Given the description of an element on the screen output the (x, y) to click on. 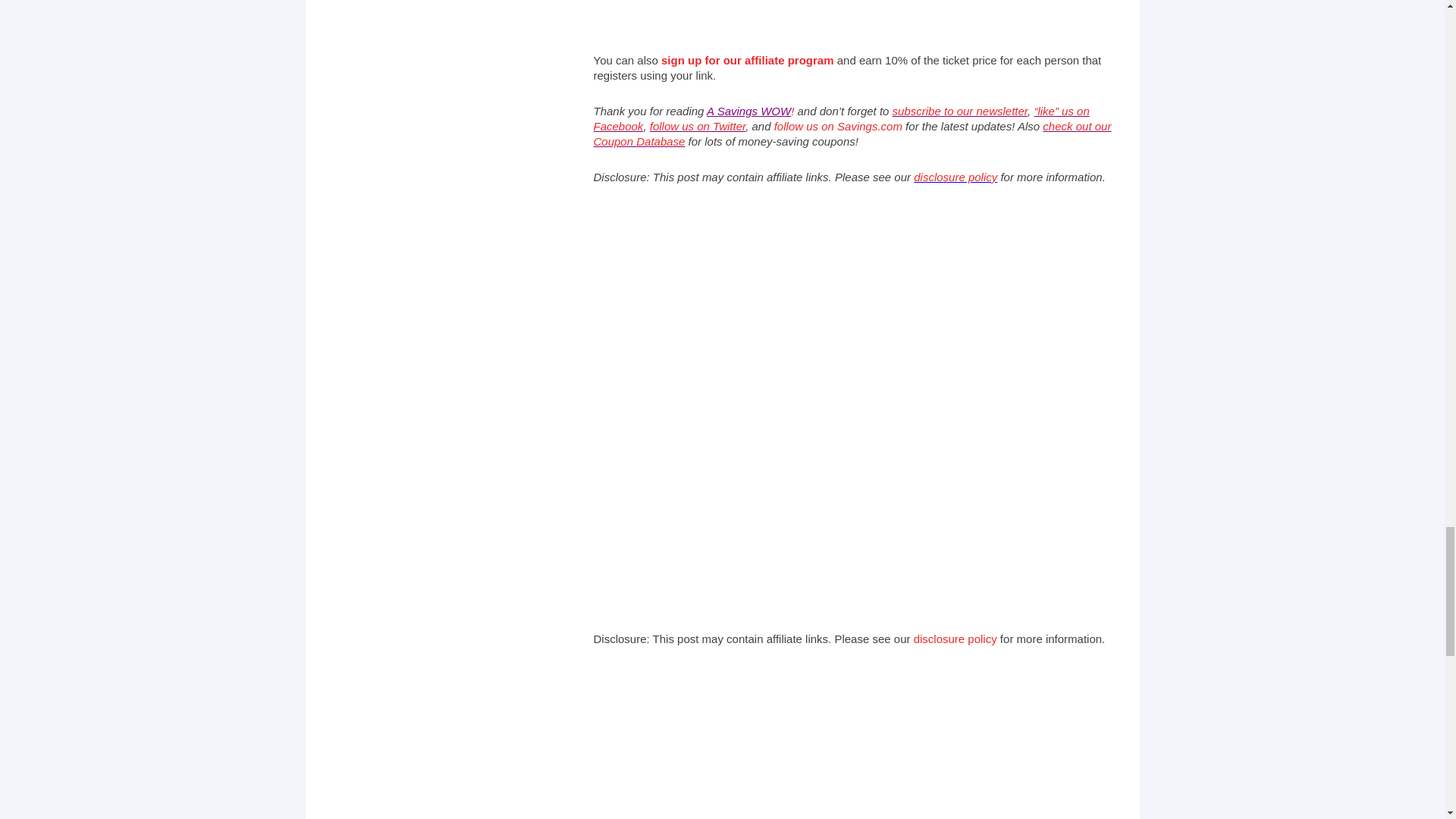
Savings Nation Affiliate Program (747, 60)
A Savings WOW! Savings.com Profile (838, 125)
Disclosure Policy (955, 176)
A Savings WOW! Newsletter Subscription (959, 110)
Coupon Database (851, 133)
A Savings WOW! Twitter Page (697, 125)
A Savings WOW! Facebook Page (840, 118)
A Savings WOW! (749, 110)
